Given the description of an element on the screen output the (x, y) to click on. 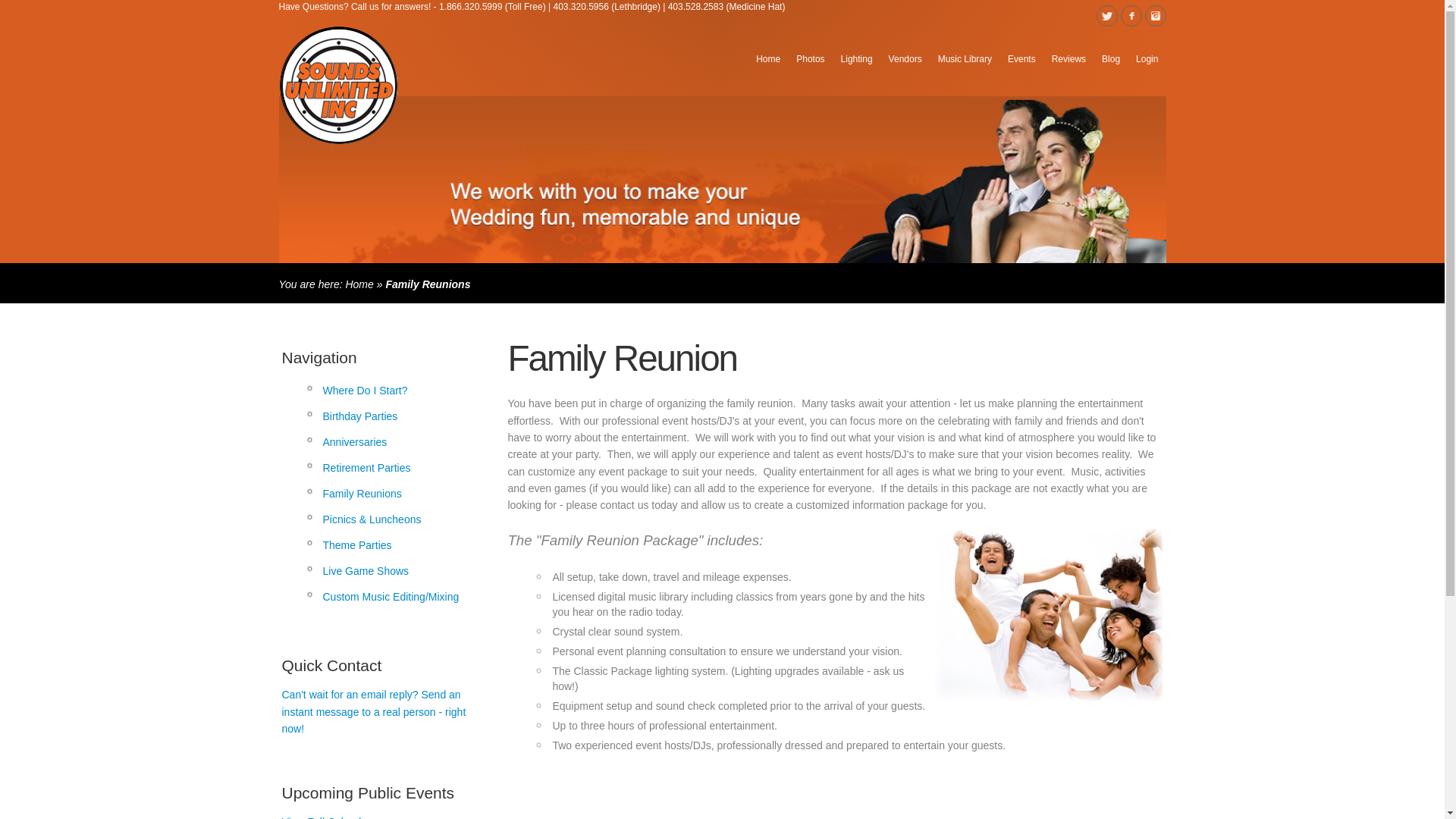
Home (358, 284)
RSS (1155, 15)
Live Game Shows (394, 570)
Facebook (1131, 15)
Home (767, 58)
Reviews (1068, 58)
View Full Calendar (326, 817)
Photos (810, 58)
Facebook (1131, 15)
Twitter (1106, 15)
